Given the description of an element on the screen output the (x, y) to click on. 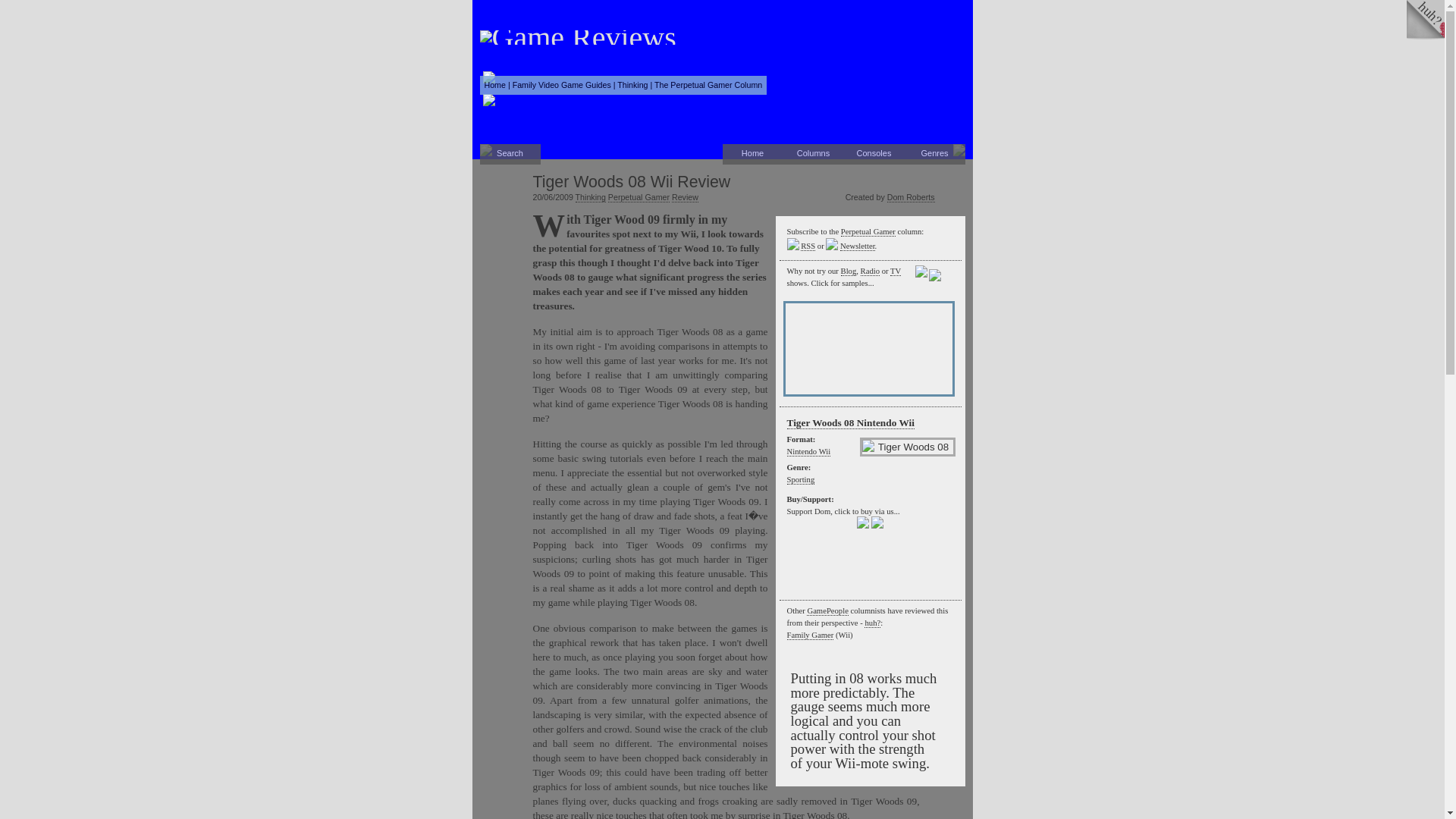
Home (752, 154)
Review (684, 197)
Dom Roberts (910, 197)
Columns (813, 154)
The Perpetual Gamer Column (707, 84)
Perpetual Gamer (638, 197)
Breadcrumb Trail (623, 85)
Family Video Game Guides (561, 84)
Search (509, 154)
Thinking (590, 197)
